Given the description of an element on the screen output the (x, y) to click on. 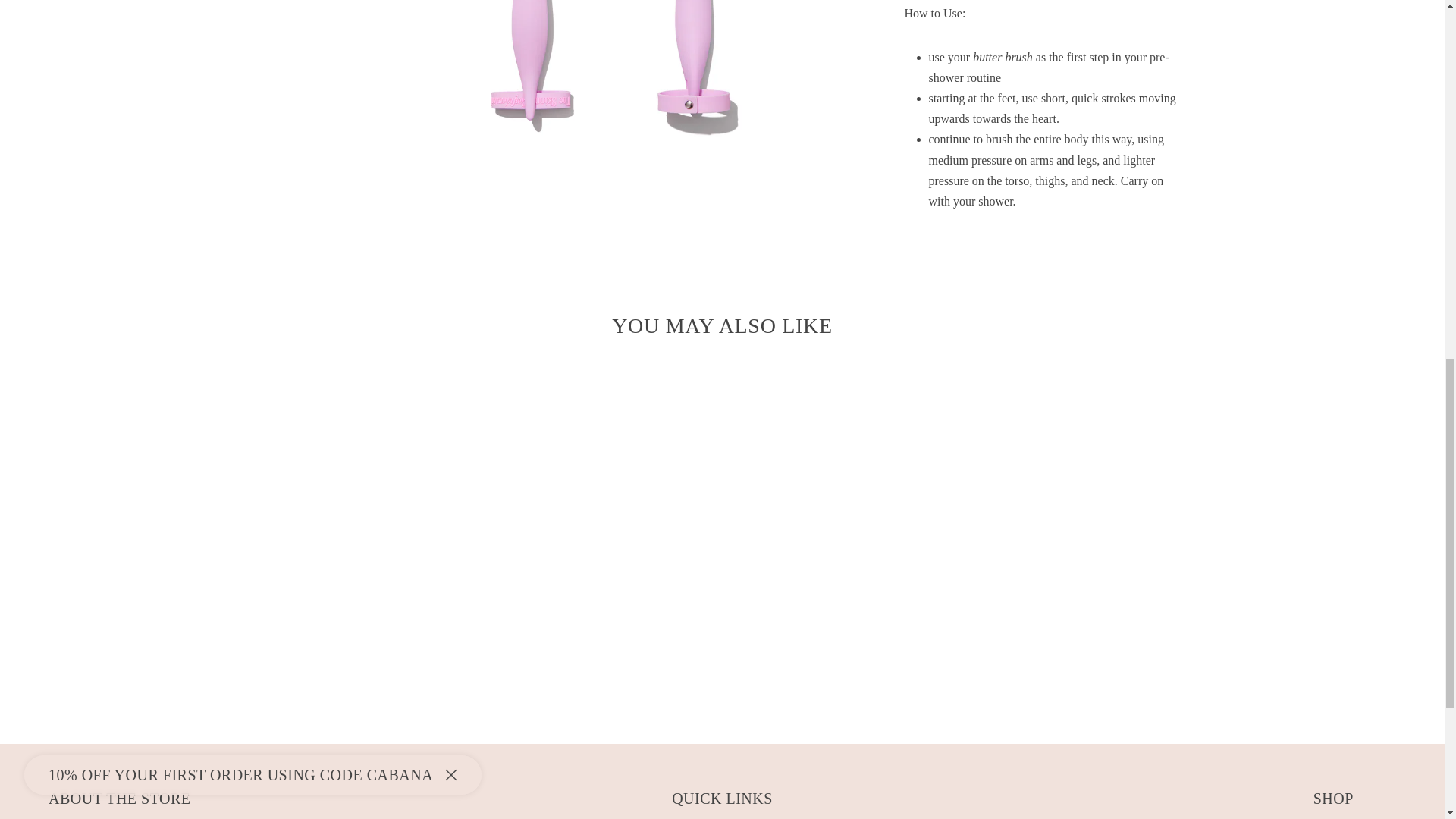
Search (687, 817)
